Given the description of an element on the screen output the (x, y) to click on. 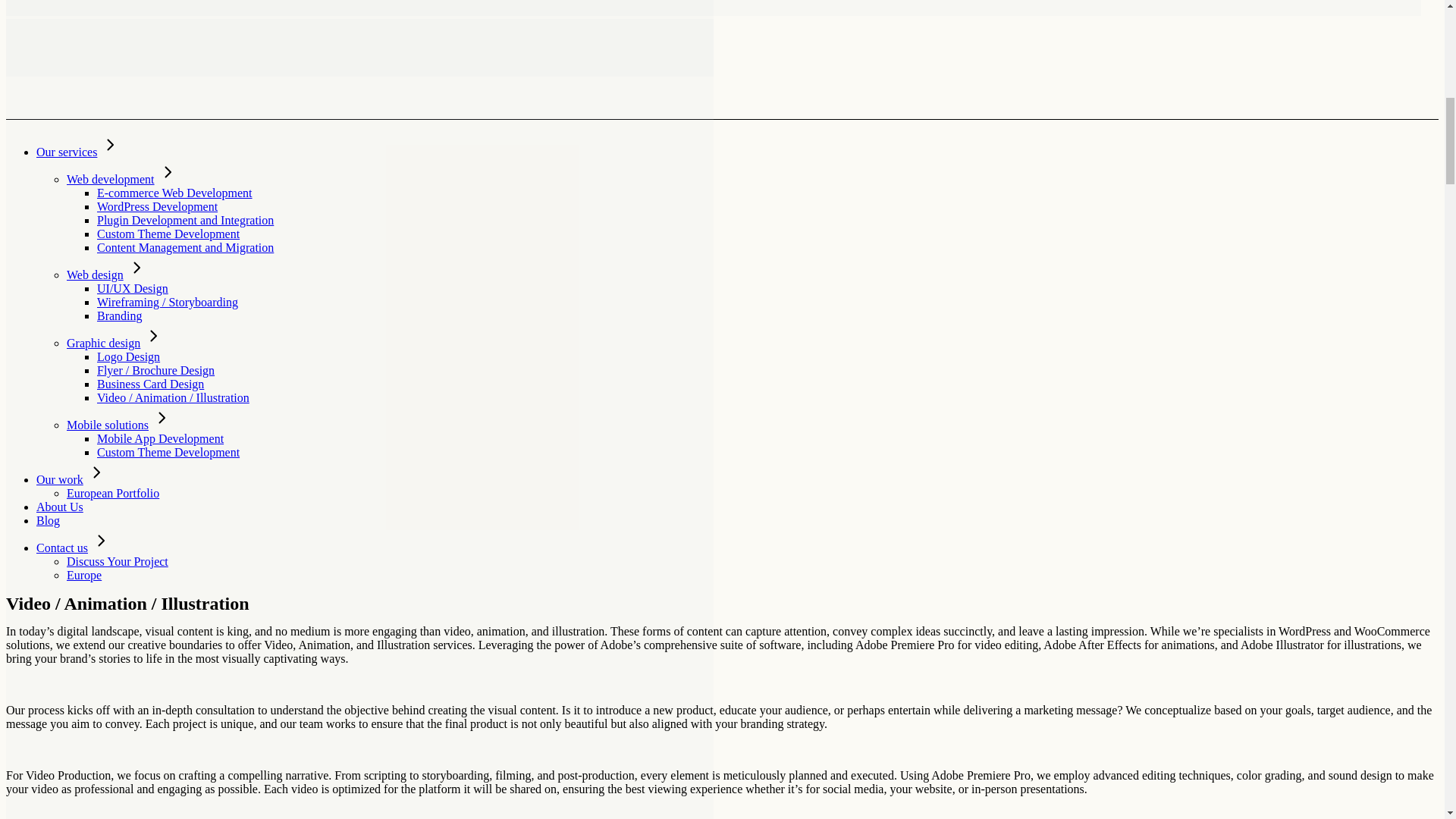
Plugin Development and Integration (185, 219)
Web development (110, 178)
Content Management and Migration (185, 246)
Our services (66, 151)
WordPress Development (156, 205)
Custom Theme Development (168, 233)
E-commerce Web Development (174, 192)
Web design (94, 274)
